Given the description of an element on the screen output the (x, y) to click on. 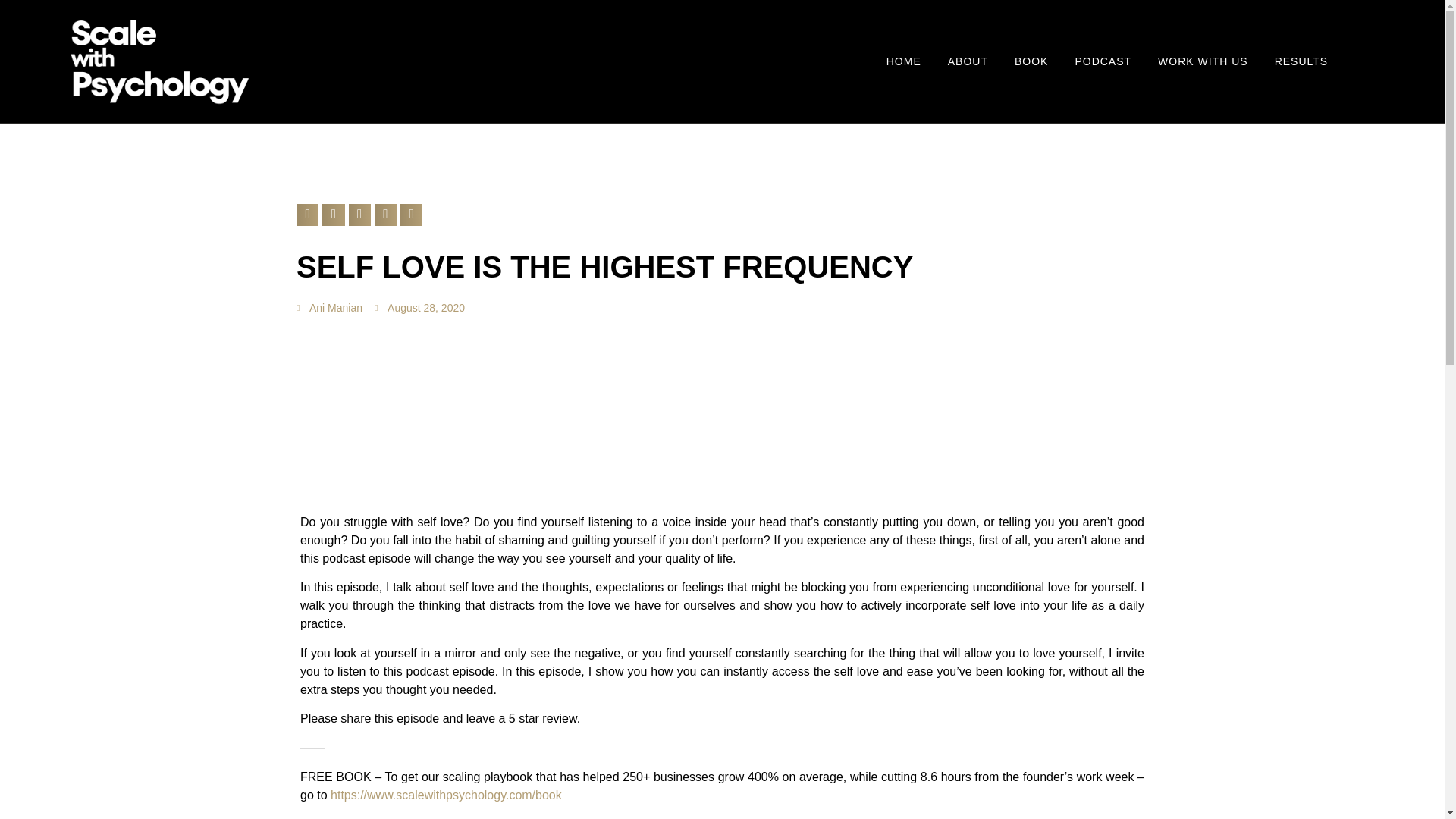
BOOK (1031, 61)
Ani Manian (329, 308)
RESULTS (1301, 61)
WORK WITH US (1202, 61)
PODCAST (1102, 61)
ABOUT (967, 61)
HOME (903, 61)
August 28, 2020 (419, 308)
